Given the description of an element on the screen output the (x, y) to click on. 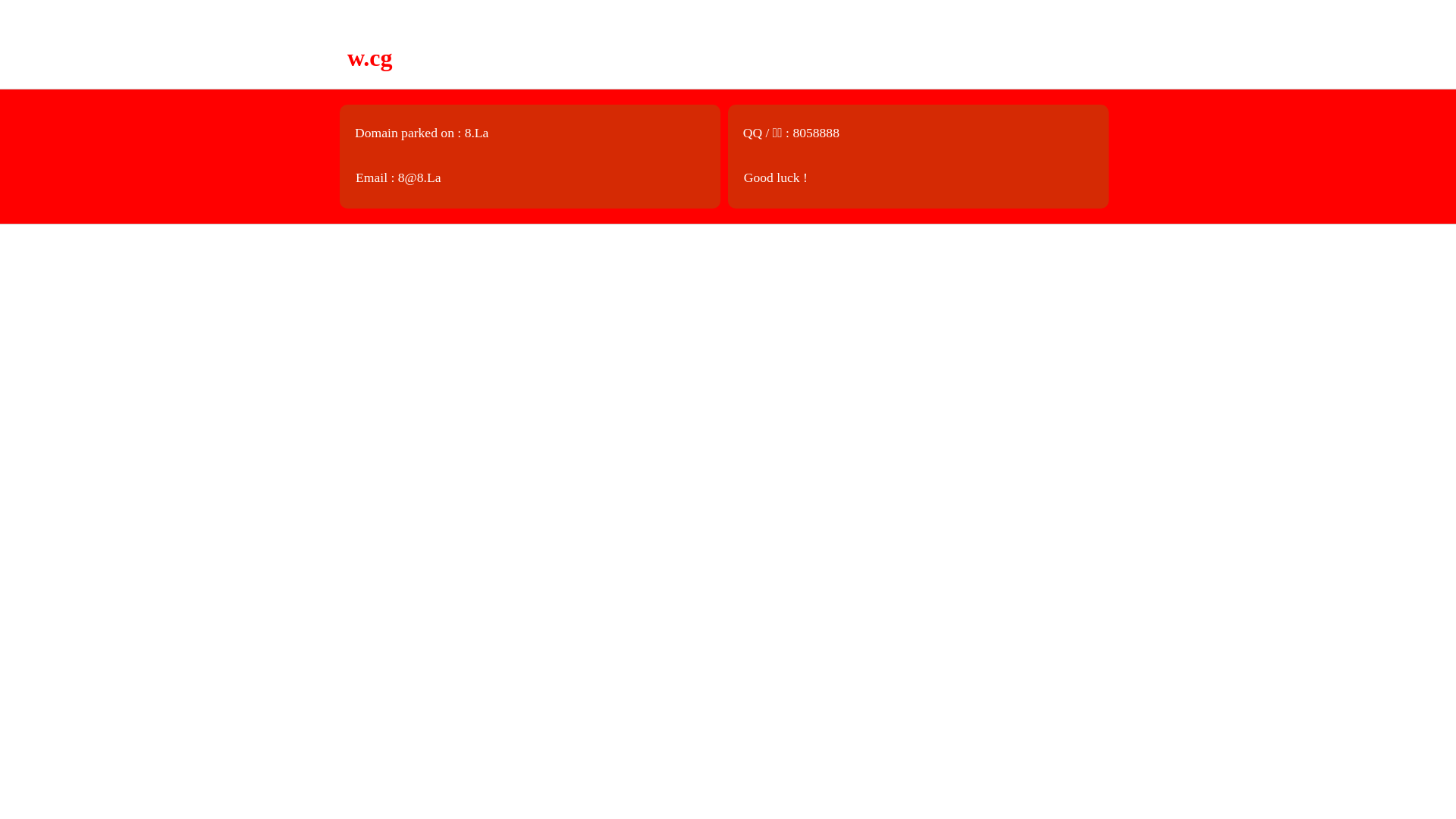
8@8.La Element type: text (419, 177)
8.La Element type: text (476, 132)
